Given the description of an element on the screen output the (x, y) to click on. 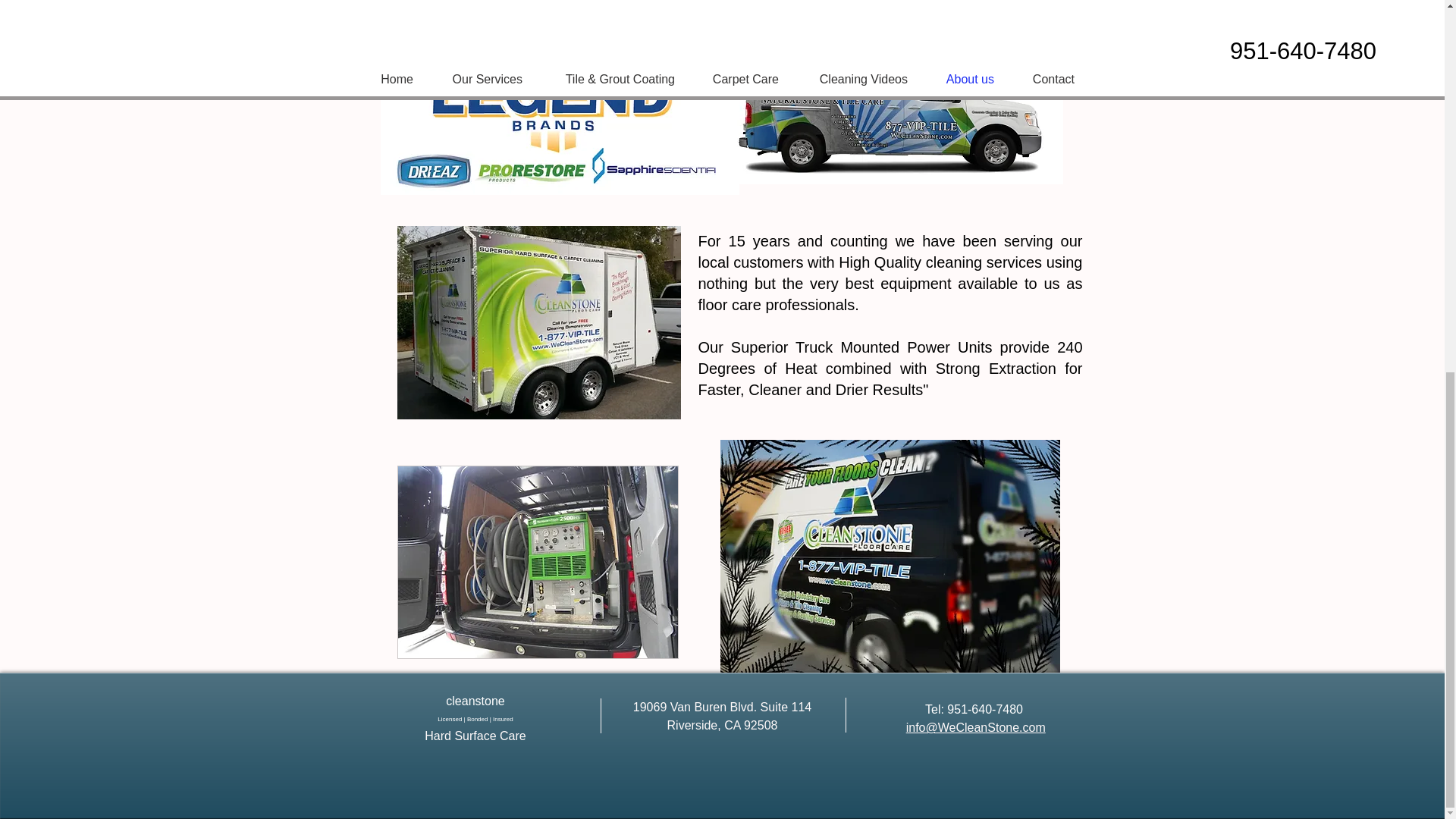
2012 NISSAN NV 3500 SV8 Passenger.jpg (889, 106)
